Given the description of an element on the screen output the (x, y) to click on. 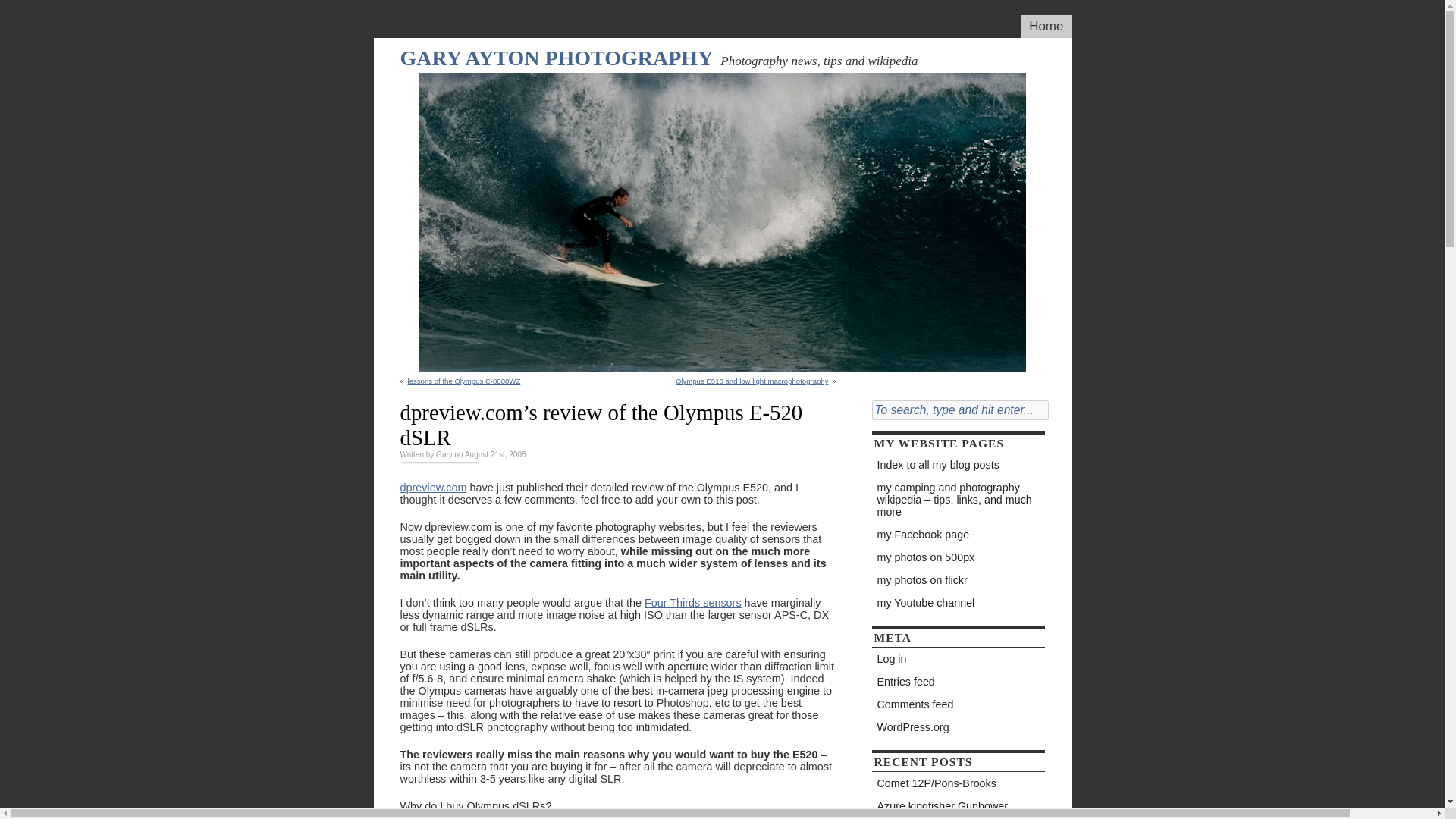
a selection of my photos hosted on flickr (958, 579)
my photos on flickr (958, 579)
my Youtube channel (958, 602)
WordPress.org (958, 726)
a selection of my photos hosted on 500px.com (958, 557)
Log in (958, 658)
chronologic index of this blog created on my wikipedia site (958, 464)
Index to all my blog posts (958, 464)
Home (1046, 26)
